Given the description of an element on the screen output the (x, y) to click on. 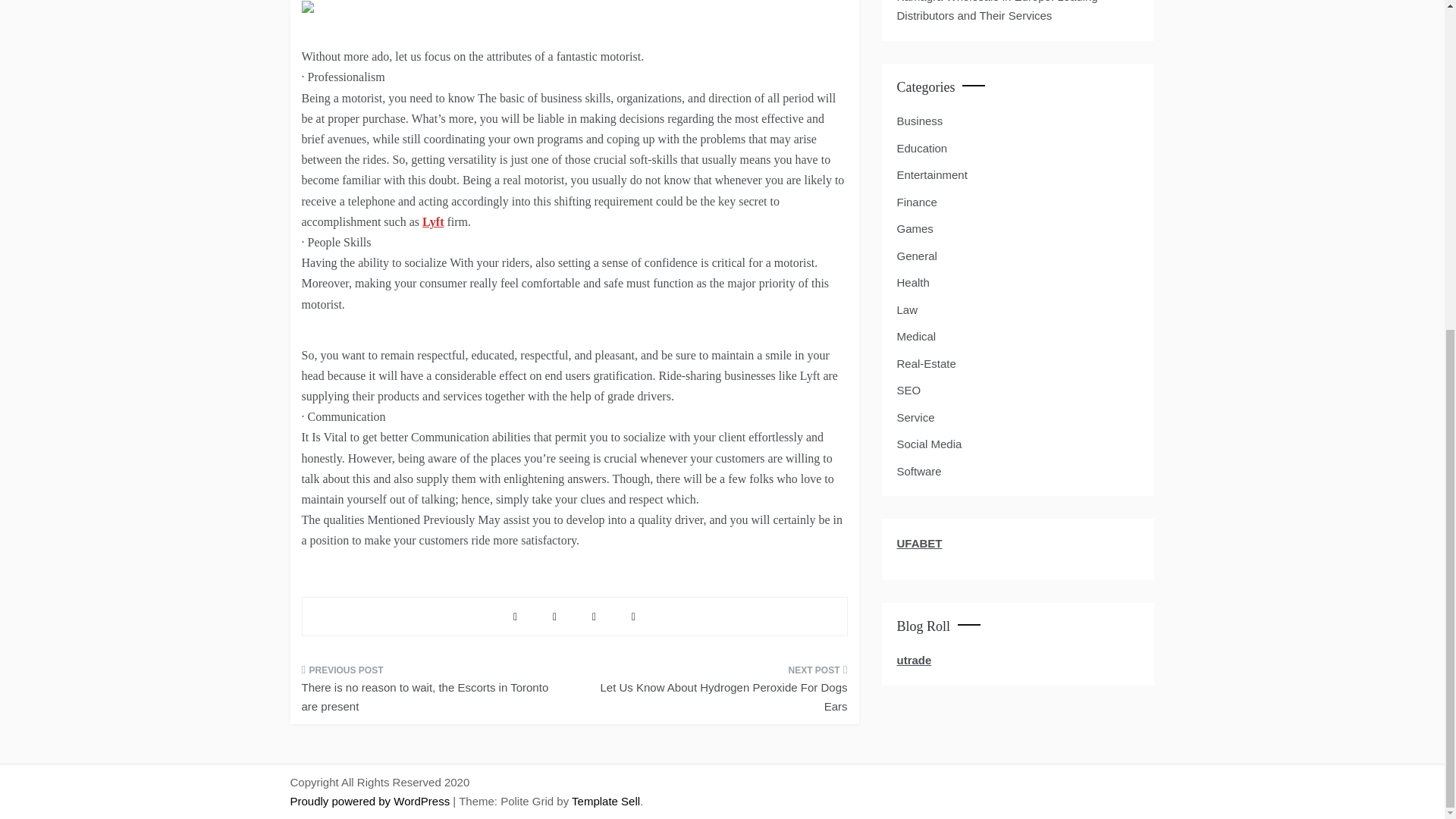
Entertainment (931, 175)
Education (921, 148)
Games (914, 229)
SEO (908, 390)
Medical (916, 336)
Real-Estate (925, 363)
Lyft (433, 221)
Let Us Know About Hydrogen Peroxide For Dogs Ears (716, 692)
Service (915, 417)
Finance (916, 202)
Health (912, 282)
Law (906, 310)
Social Media (928, 444)
